Given the description of an element on the screen output the (x, y) to click on. 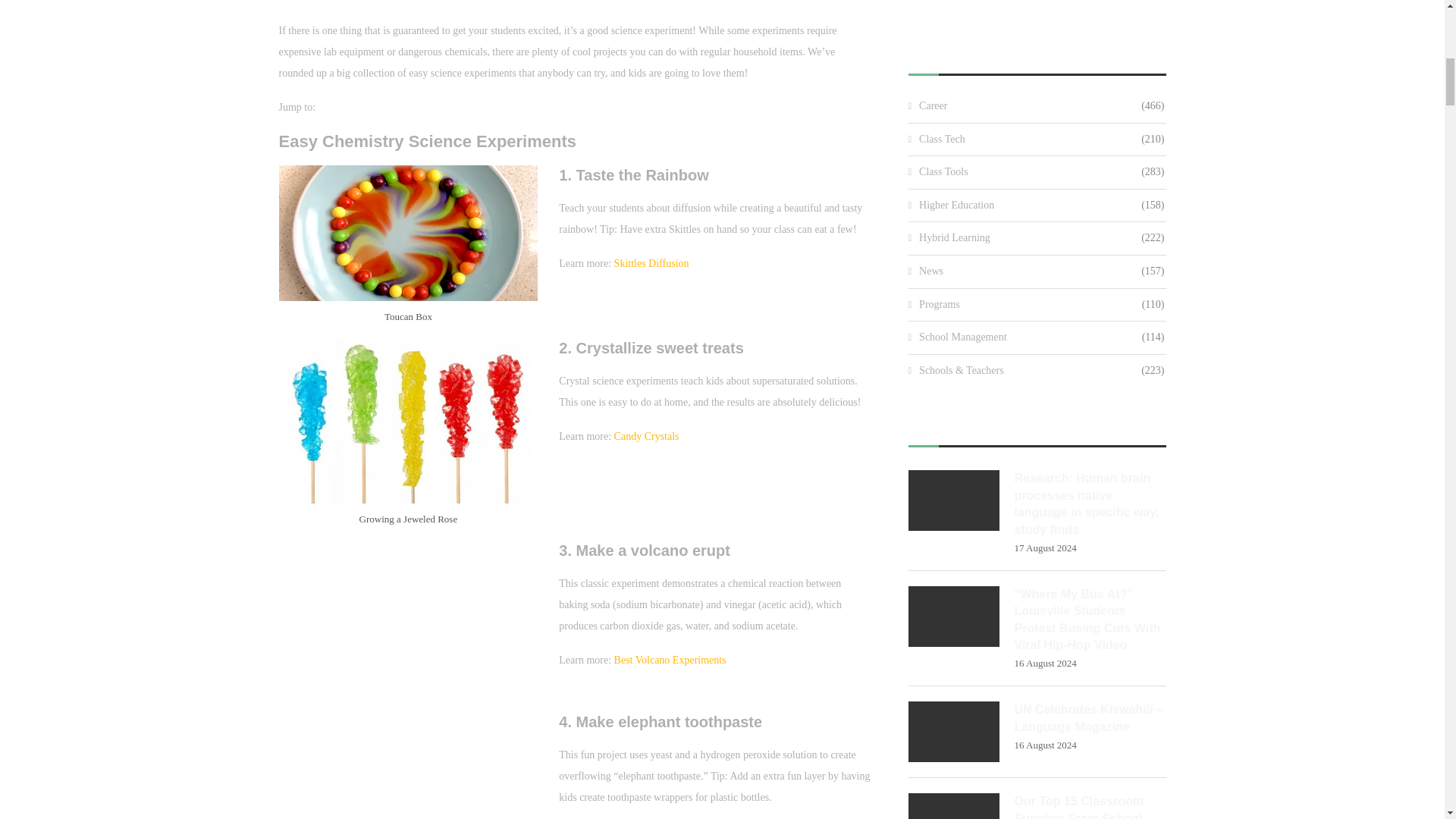
Baking Soda Volcano Experiment - Get Our Extra Secrets! (408, 626)
Skittle Experiment (408, 233)
Easy Science Experiments Growing a Jeweled Rose (408, 421)
